Given the description of an element on the screen output the (x, y) to click on. 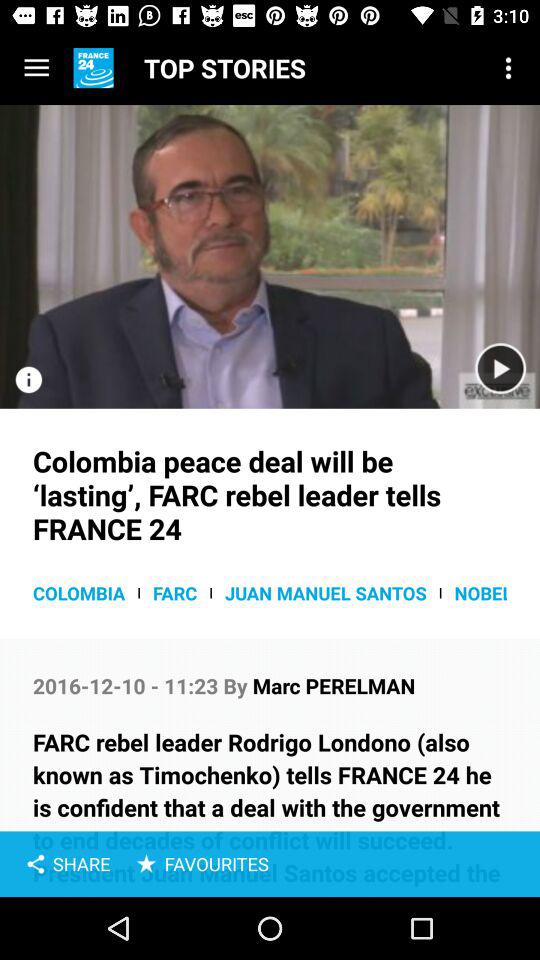
play video (500, 368)
